Given the description of an element on the screen output the (x, y) to click on. 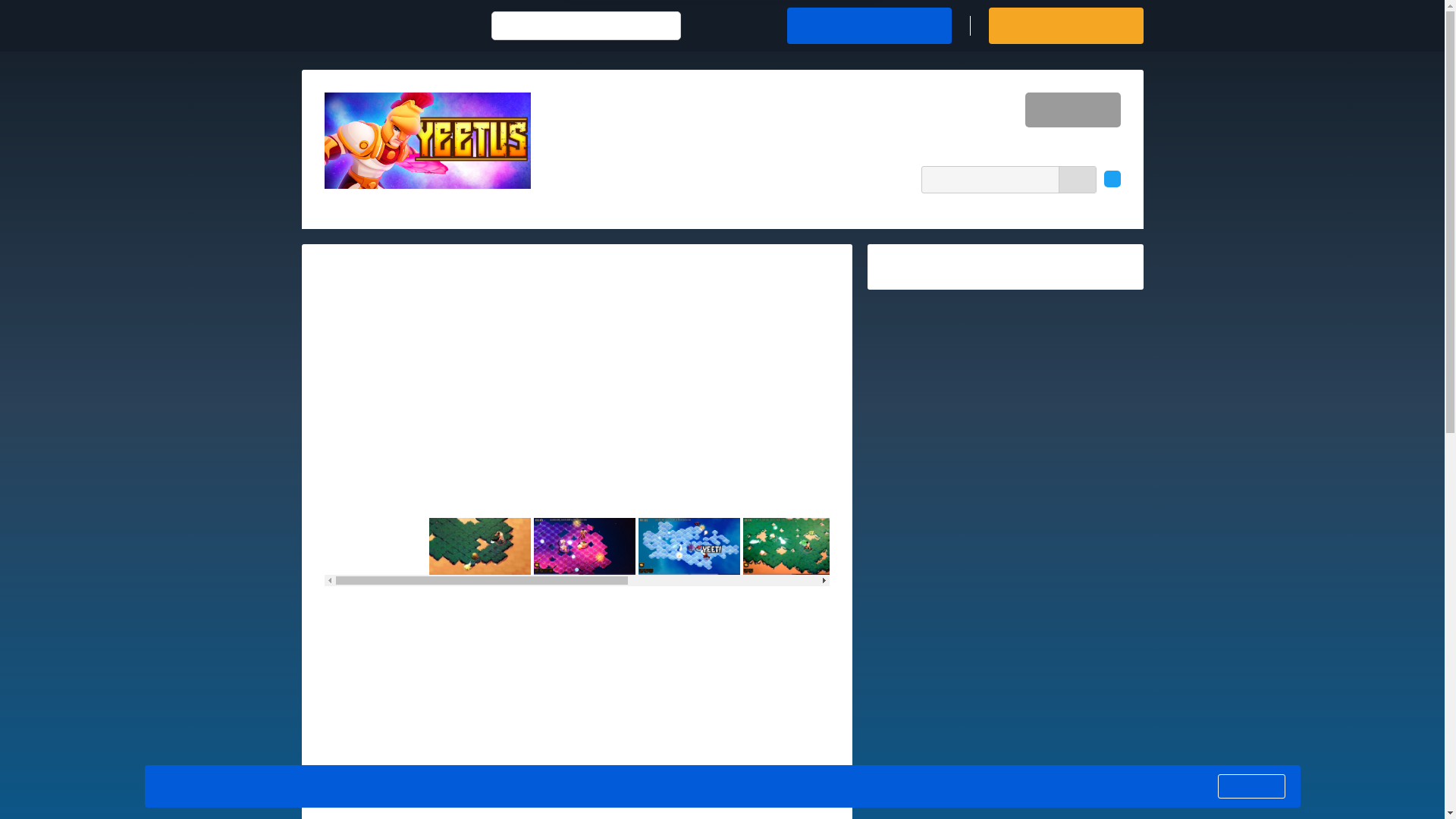
Cookies Policy (646, 785)
FINISHED (1072, 109)
YarnCat Games (711, 114)
CREATOR ACCESS (1065, 25)
Understood (1250, 785)
Tweets by DYarnCat (930, 265)
media preview (576, 386)
PUBLISHER ACCESS (869, 25)
COPY (1077, 179)
